Given the description of an element on the screen output the (x, y) to click on. 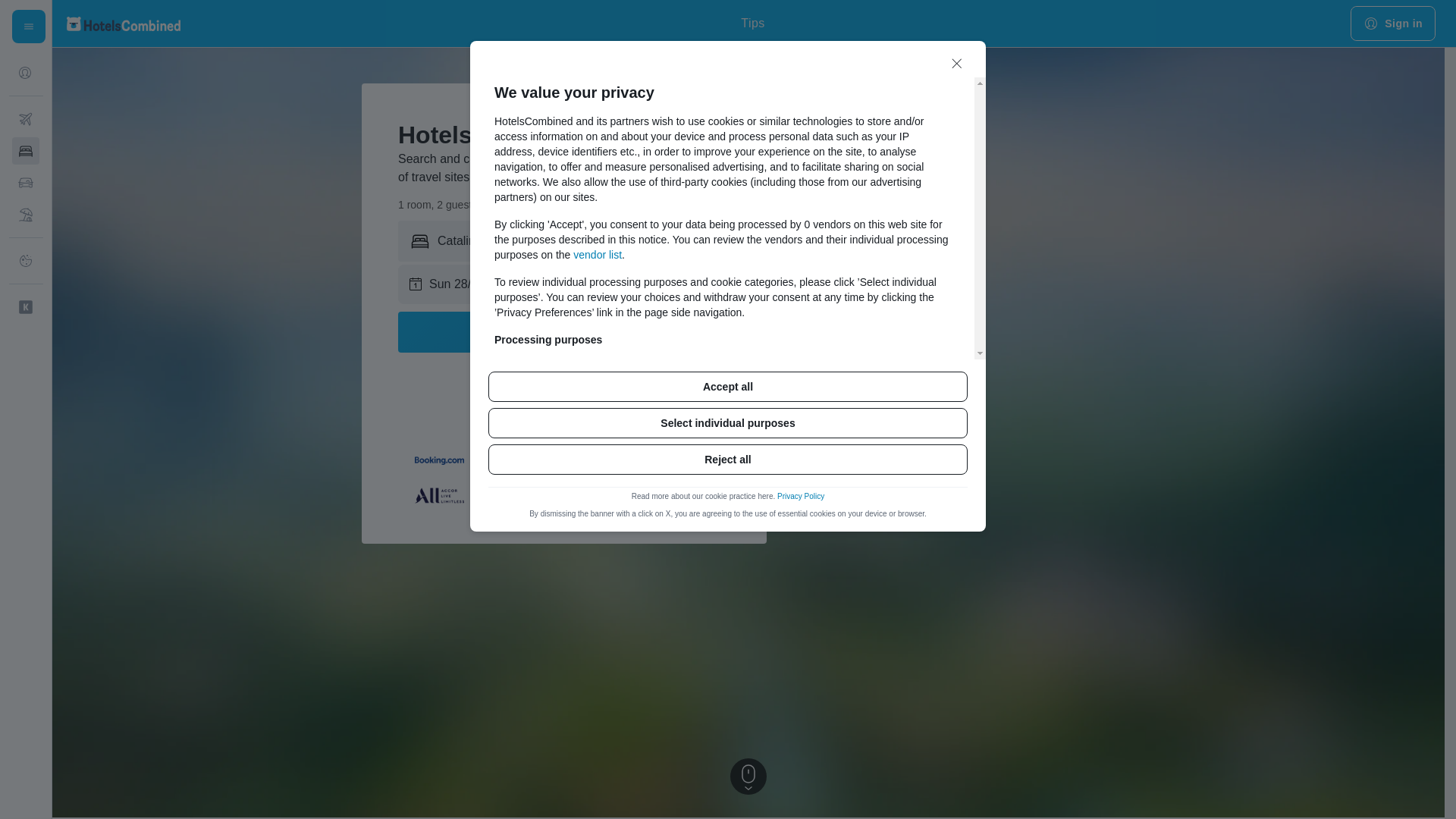
Search (563, 332)
1 room, 2 guests (446, 205)
Search (563, 332)
